Given the description of an element on the screen output the (x, y) to click on. 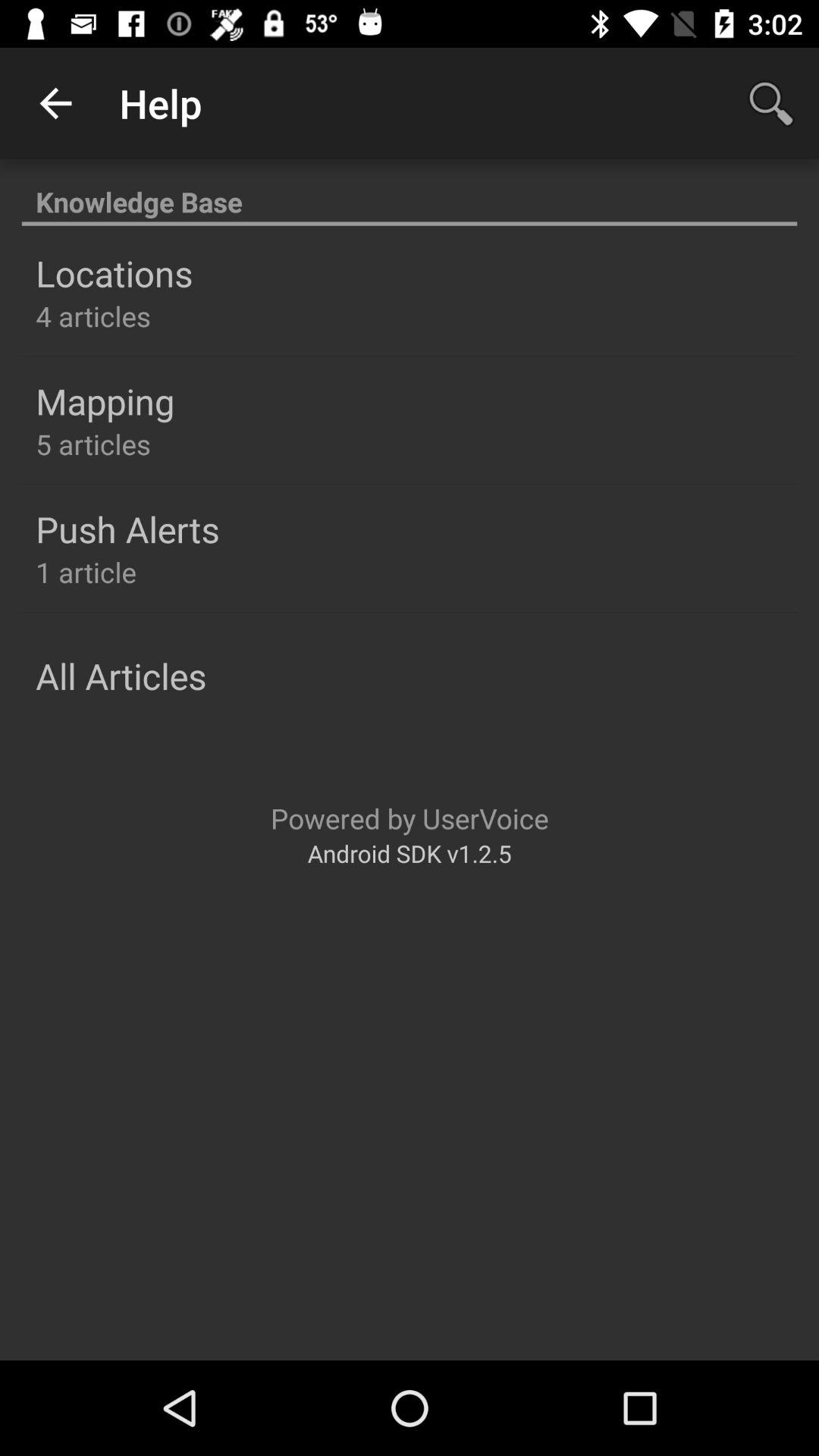
press the app to the left of the help icon (55, 103)
